Given the description of an element on the screen output the (x, y) to click on. 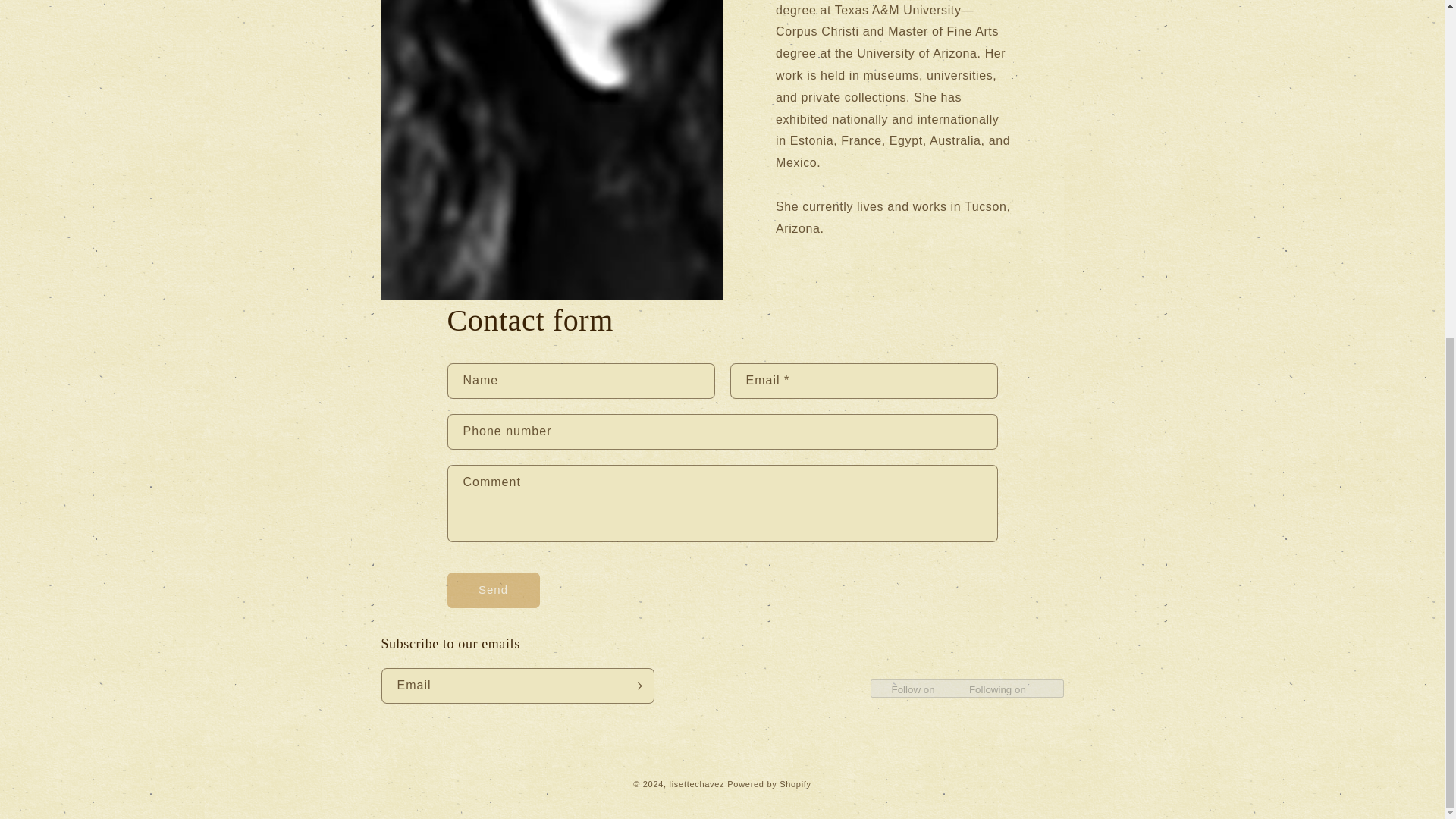
Powered by Shopify (768, 783)
Send (493, 590)
lisettechavez (697, 783)
